Given the description of an element on the screen output the (x, y) to click on. 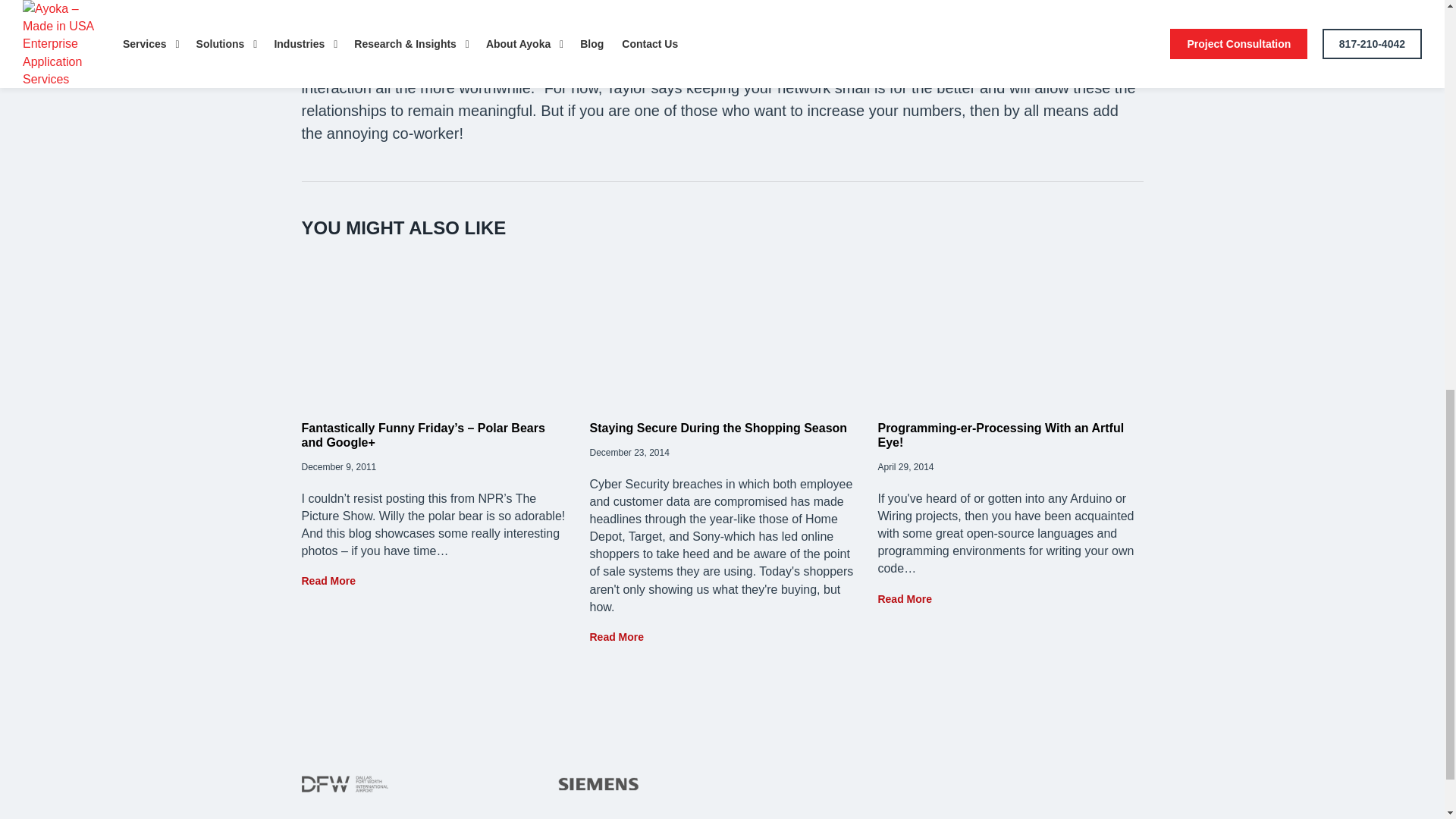
Read More (328, 580)
Programming-er-Processing With an Artful Eye! (1000, 434)
Staying Secure During the Shopping Season (718, 427)
Read More (904, 598)
Read More (616, 636)
